Given the description of an element on the screen output the (x, y) to click on. 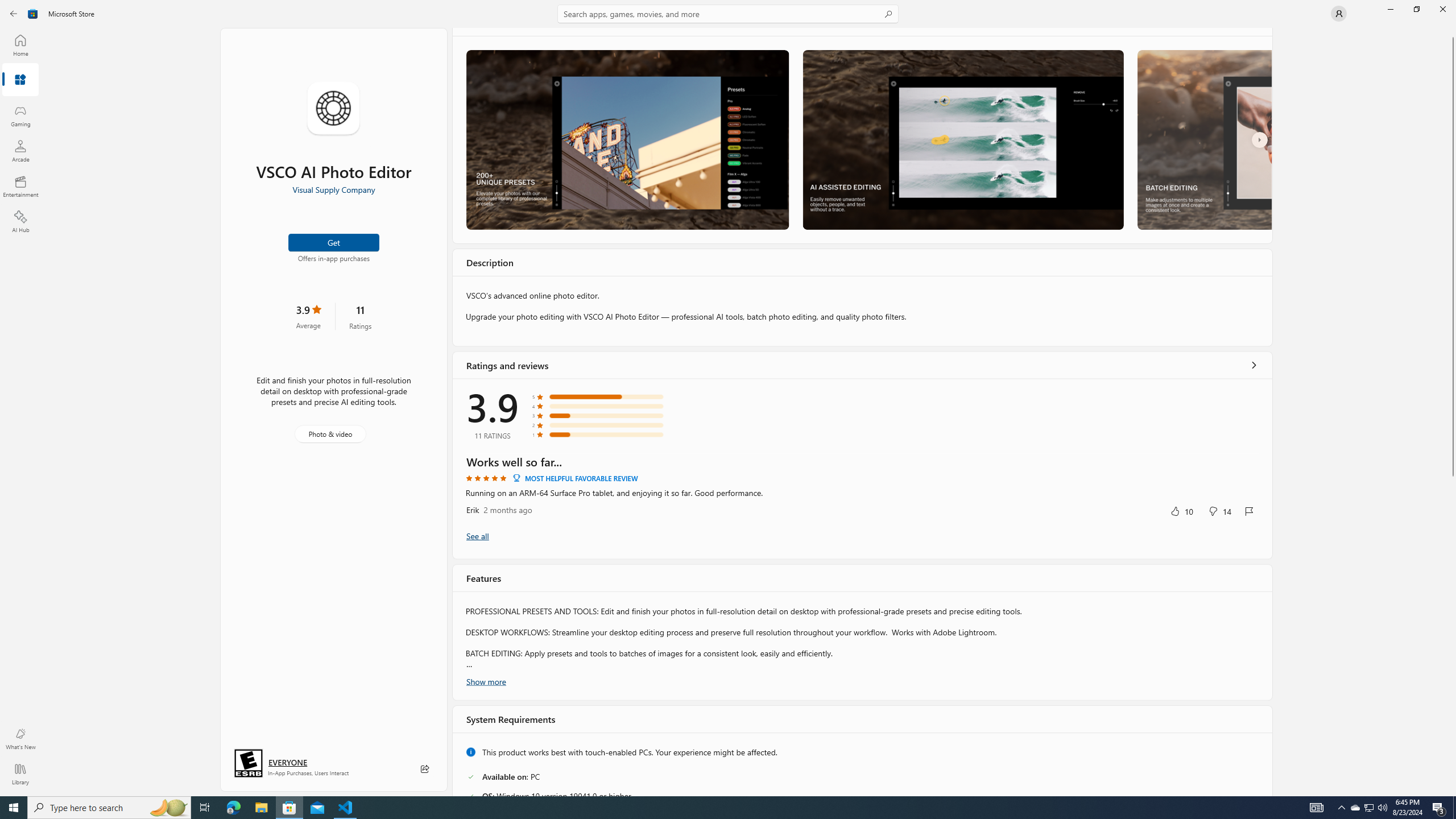
Permissions info (671, 716)
Terms of transaction (1161, 716)
Gaming (20, 115)
Show more (485, 353)
Photo & video (828, 639)
Age rating: EVERYONE. Click for more information. (287, 762)
VSCO AI Photo Editor support (1017, 705)
Photo & video (329, 434)
VSCO AI Photo Editor privacy policy (1189, 705)
User profile (1338, 13)
Contact information (1000, 716)
Report this product for violating Microsoft Store Policy (537, 777)
Home (20, 45)
Report review (1248, 240)
